Given the description of an element on the screen output the (x, y) to click on. 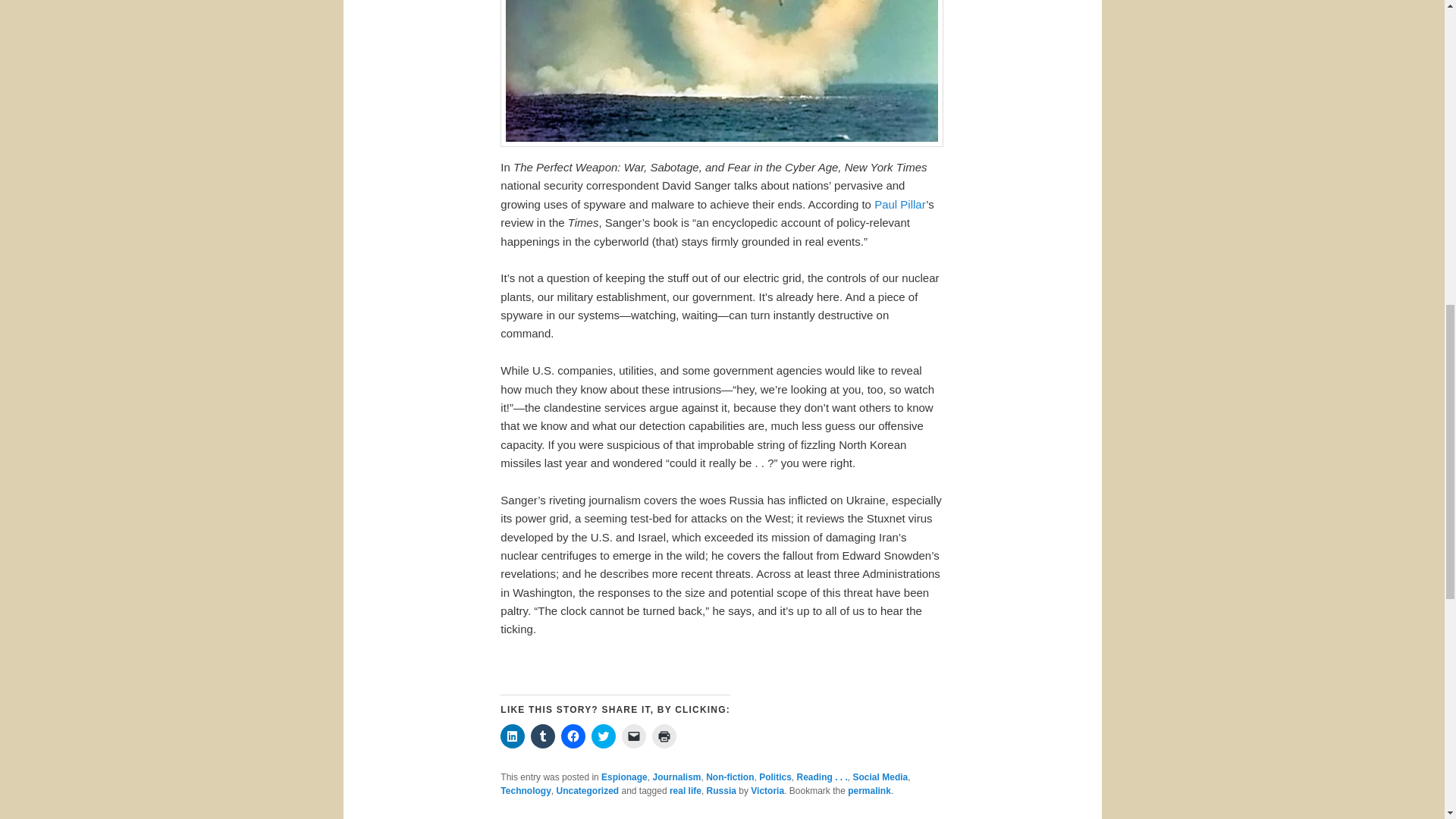
Click to share on LinkedIn (512, 735)
Click to share on Twitter (603, 735)
real life (685, 790)
Uncategorized (587, 790)
Click to print (664, 735)
permalink (869, 790)
Permalink to Our Biggest Threats Keep Growing (869, 790)
Paul Pillar (900, 204)
Technology (525, 790)
Victoria (767, 790)
